Given the description of an element on the screen output the (x, y) to click on. 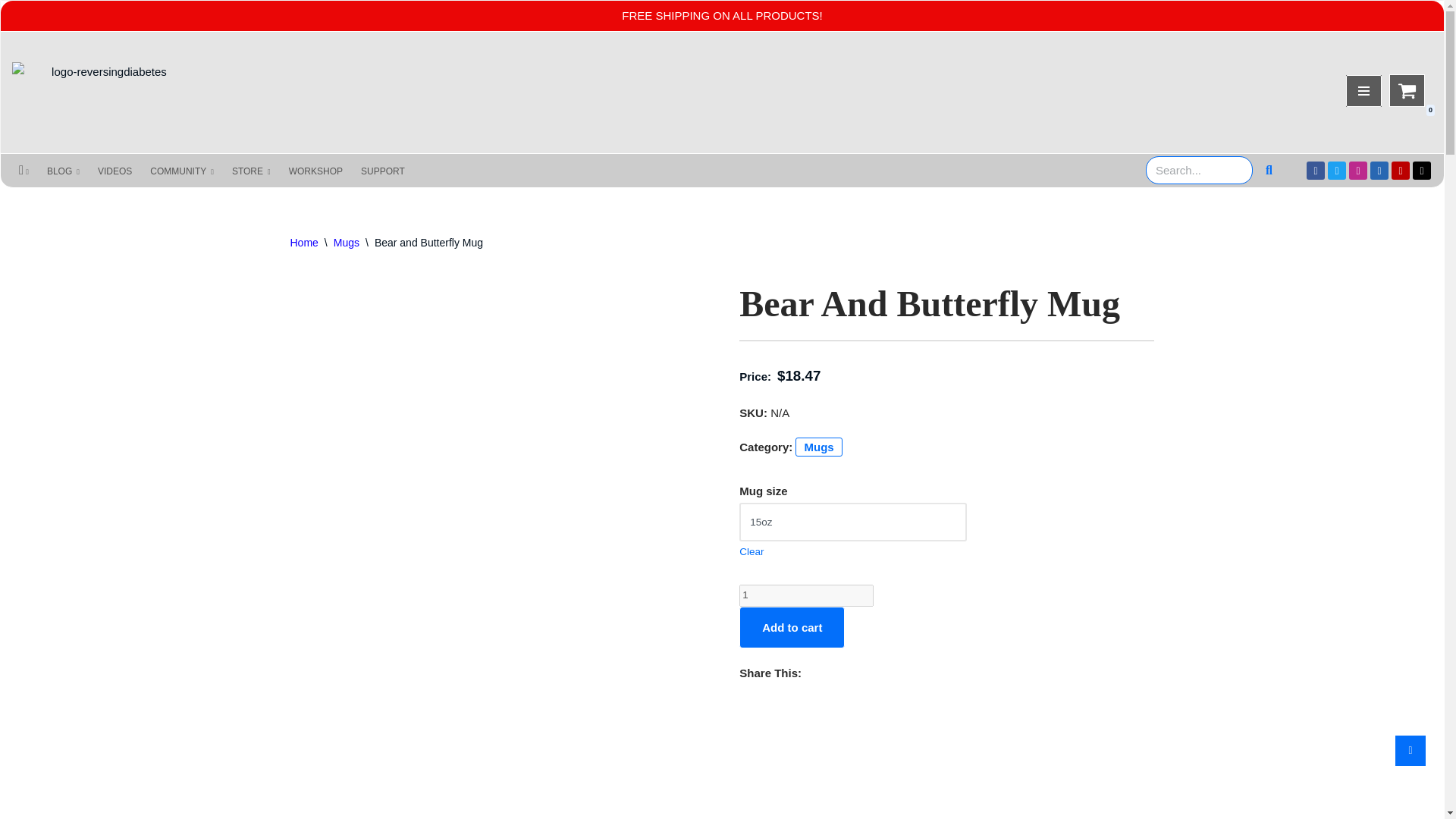
Youtube (1400, 170)
1 (806, 595)
0 (1407, 90)
Reversing Diabetes Merchandise (102, 92)
Navigation Menu (1363, 90)
Skip to content (12, 31)
Facebook (1315, 170)
Qty (806, 595)
Twitter (1336, 170)
Tiktok (1421, 170)
Linkedin (1379, 170)
Instagram (1358, 170)
VIDEOS (114, 171)
